Given the description of an element on the screen output the (x, y) to click on. 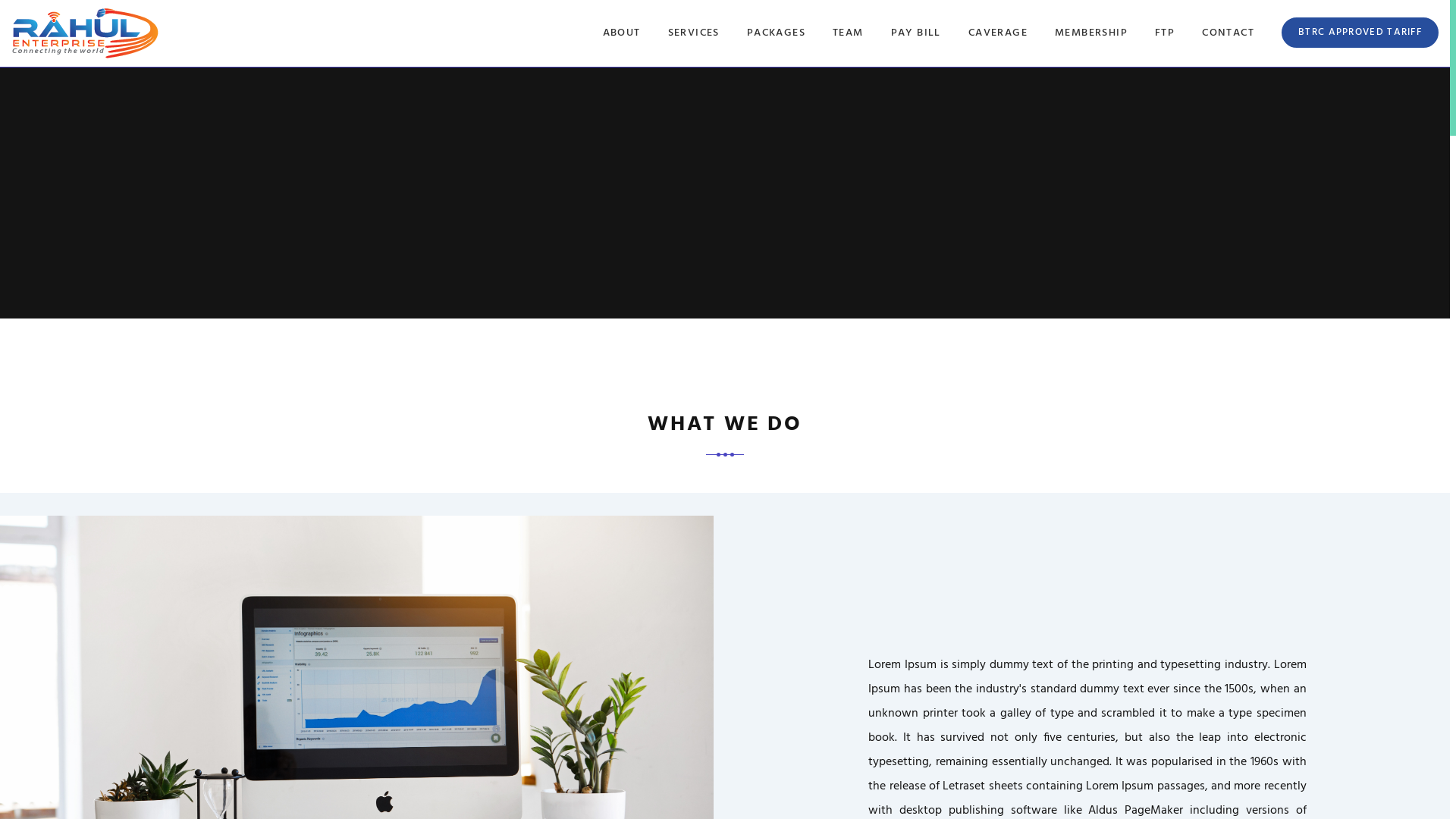
My Application Element type: text (336, 26)
SIGNUP Element type: text (1083, 32)
MEMBERSHIP Element type: text (1090, 32)
FTP Element type: text (1164, 32)
TEAM Element type: text (847, 32)
ABOUT Element type: text (936, 32)
PAY BILL Element type: text (916, 32)
CONTACT Element type: text (1008, 32)
LOGIN Element type: text (1150, 32)
ABOUT Element type: text (621, 32)
PACKAGES Element type: text (775, 32)
CONTACT Element type: text (1227, 32)
BTRC APPROVED TARIFF Element type: text (1359, 32)
CAVERAGE Element type: text (997, 32)
SERVICES Element type: text (693, 32)
HOME Element type: text (873, 32)
